Given the description of an element on the screen output the (x, y) to click on. 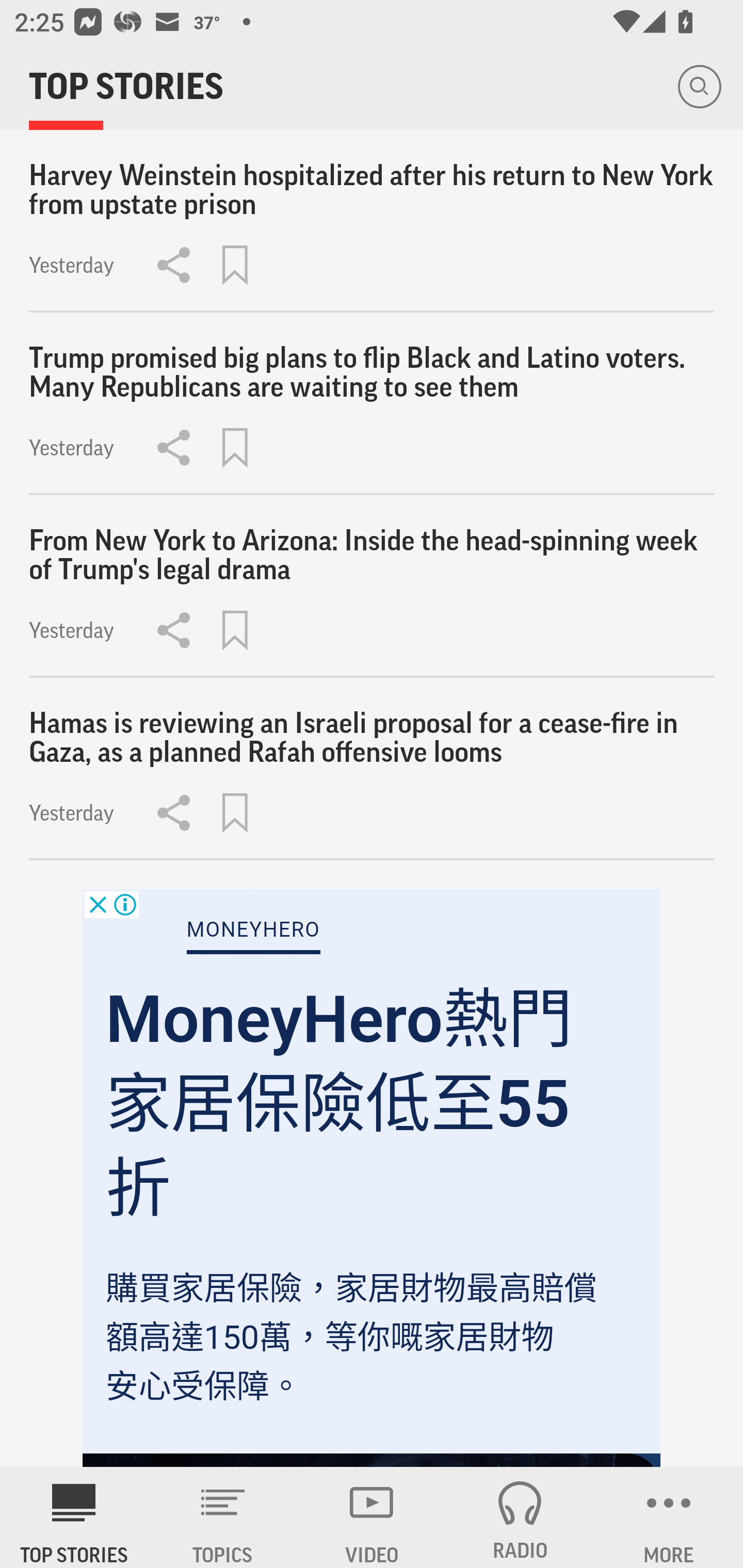
AP News TOP STORIES (74, 1517)
TOPICS (222, 1517)
VIDEO (371, 1517)
RADIO (519, 1517)
MORE (668, 1517)
